Given the description of an element on the screen output the (x, y) to click on. 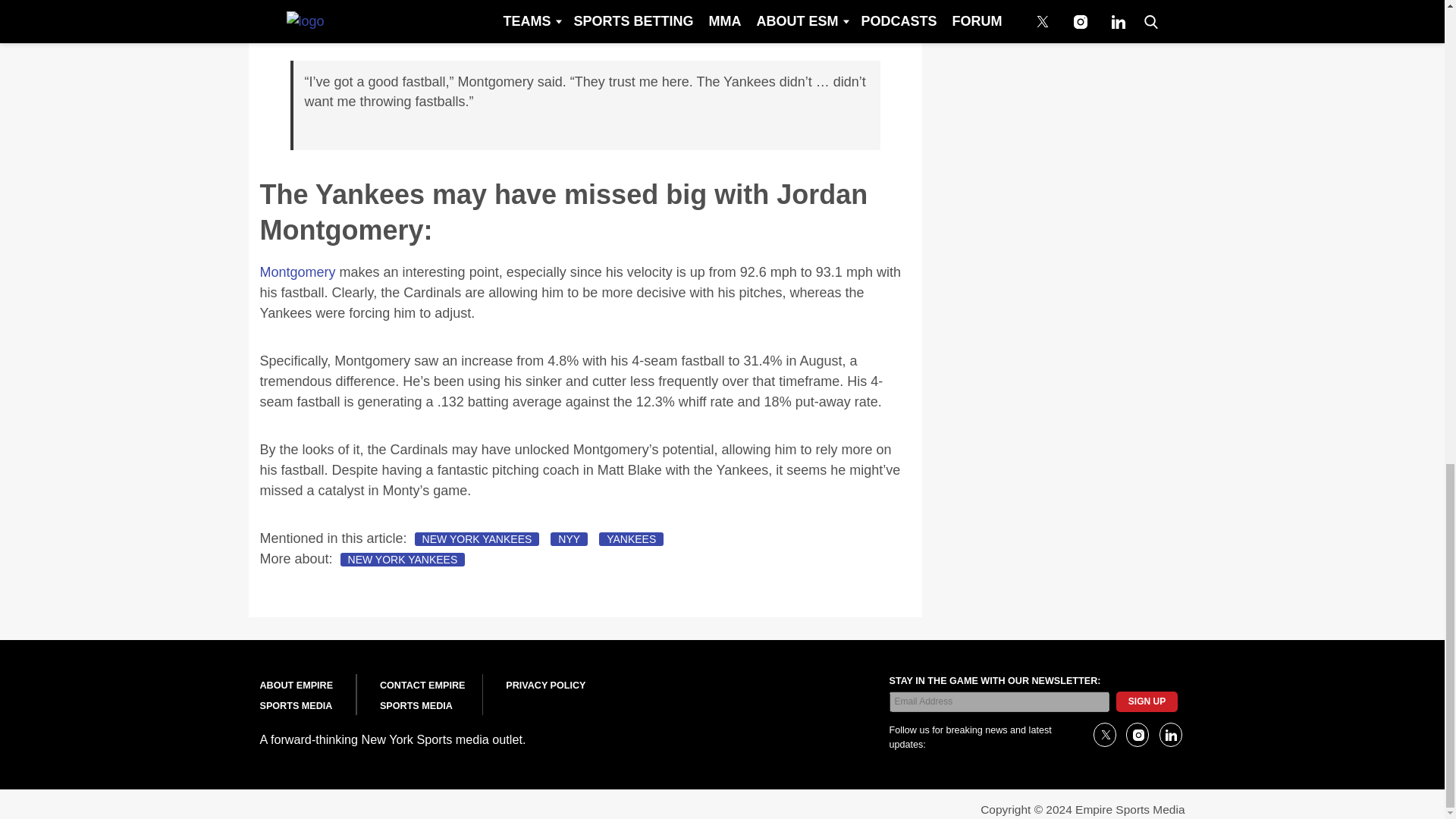
Connect with us on LinkedIn (1169, 734)
NEW YORK YANKEES (402, 559)
Follow us on Instagram (1136, 734)
NYY (569, 539)
NEW YORK YANKEES (477, 539)
YANKEES (630, 539)
Follow us on Twitter (1104, 734)
Montgomery (296, 272)
